Given the description of an element on the screen output the (x, y) to click on. 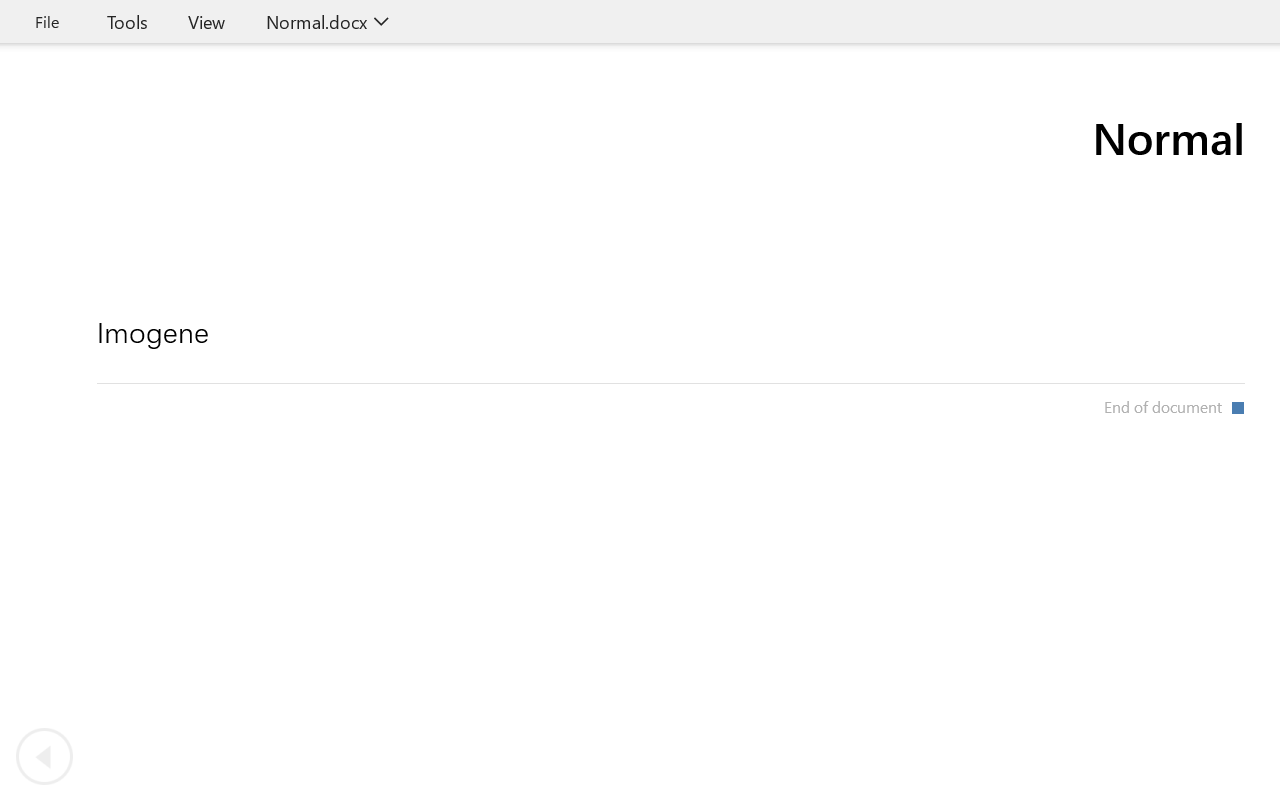
Tools (127, 21)
